Given the description of an element on the screen output the (x, y) to click on. 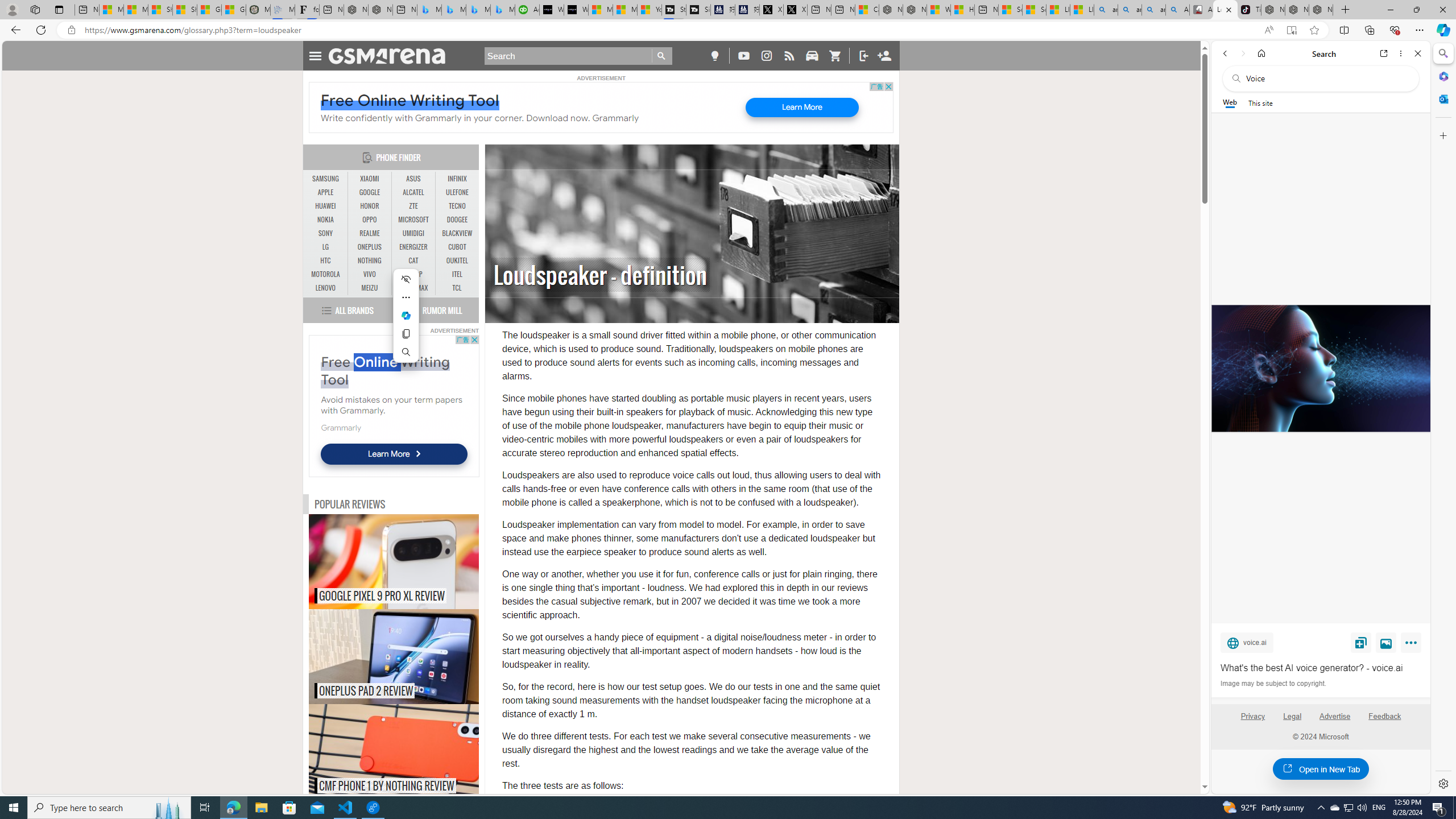
Advertise (1335, 715)
Enter Immersive Reader (F9) (1291, 29)
CAT (413, 260)
Free Online Writing Tool (384, 370)
MICROSOFT (413, 219)
TikTok (1248, 9)
HTC (325, 260)
MOTOROLA (325, 273)
